Given the description of an element on the screen output the (x, y) to click on. 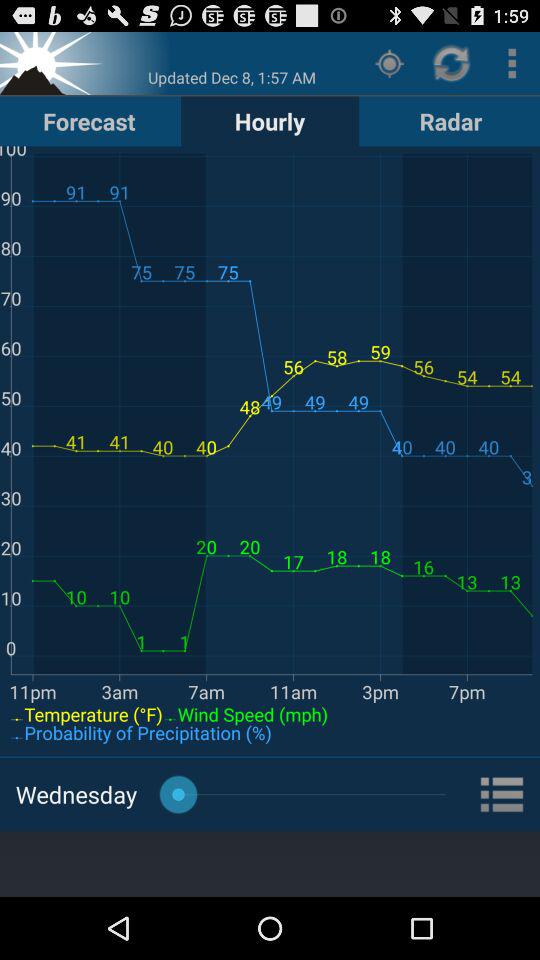
flip until forecast (89, 120)
